Given the description of an element on the screen output the (x, y) to click on. 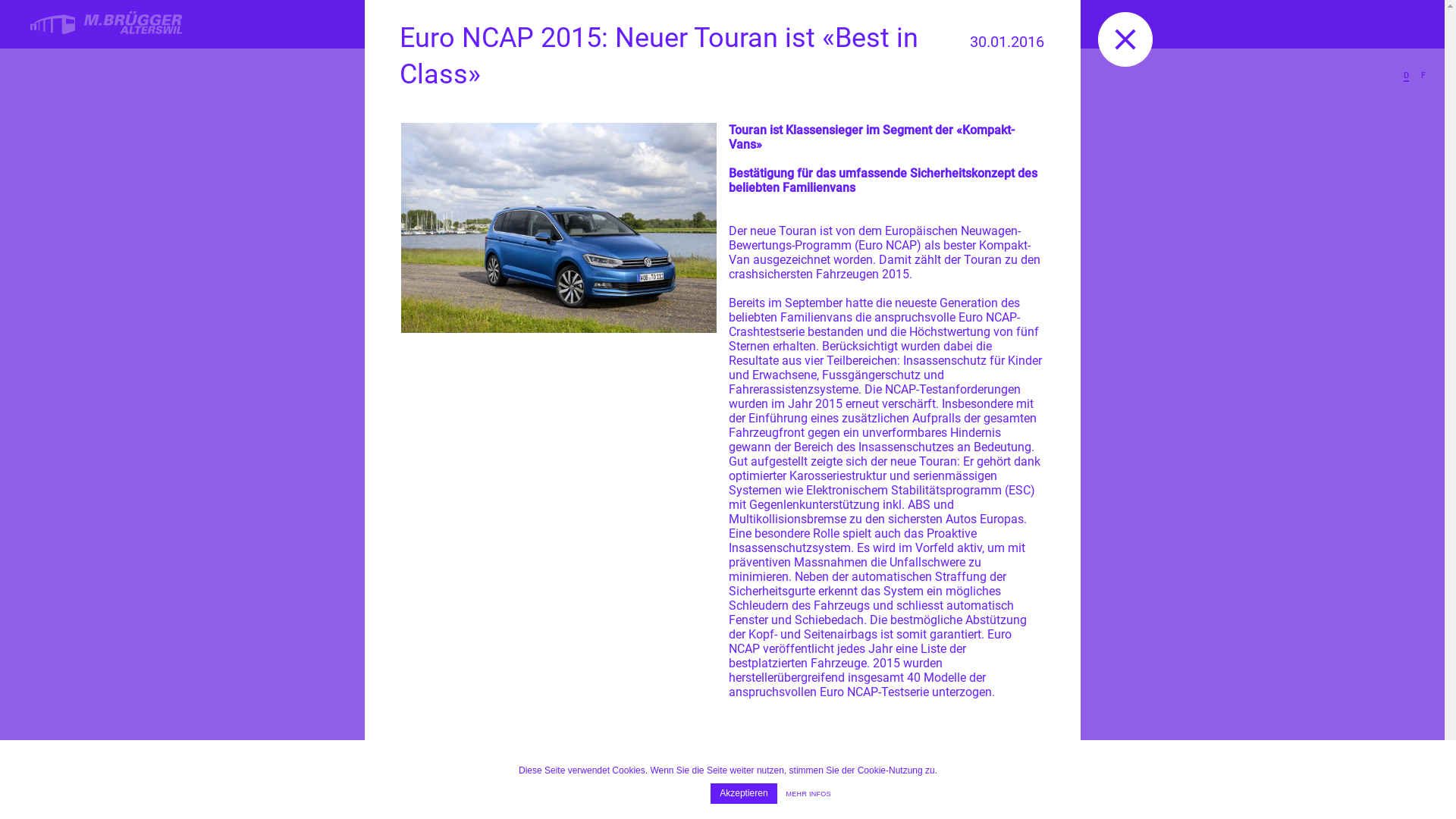
Lagerfahrzeuge Element type: text (639, 72)
Email Element type: text (592, 26)
20.05.2021
Mechaniker m/w gesucht Element type: text (482, 484)
Dienstleistungen Element type: text (457, 72)
21.07.2020
Campervermietung Element type: text (809, 434)
Aktionen Element type: text (795, 72)
F Element type: text (1423, 75)
MEHR INFOS Element type: text (808, 794)
28.01.2020
Weltpremiere heute Abend Element type: text (973, 419)
Team Element type: text (933, 72)
23.10.2020
CUPRA Formentor und Leon Hybrid Element type: text (645, 443)
D Element type: text (1405, 75)
Blog Element type: text (1040, 72)
